Given the description of an element on the screen output the (x, y) to click on. 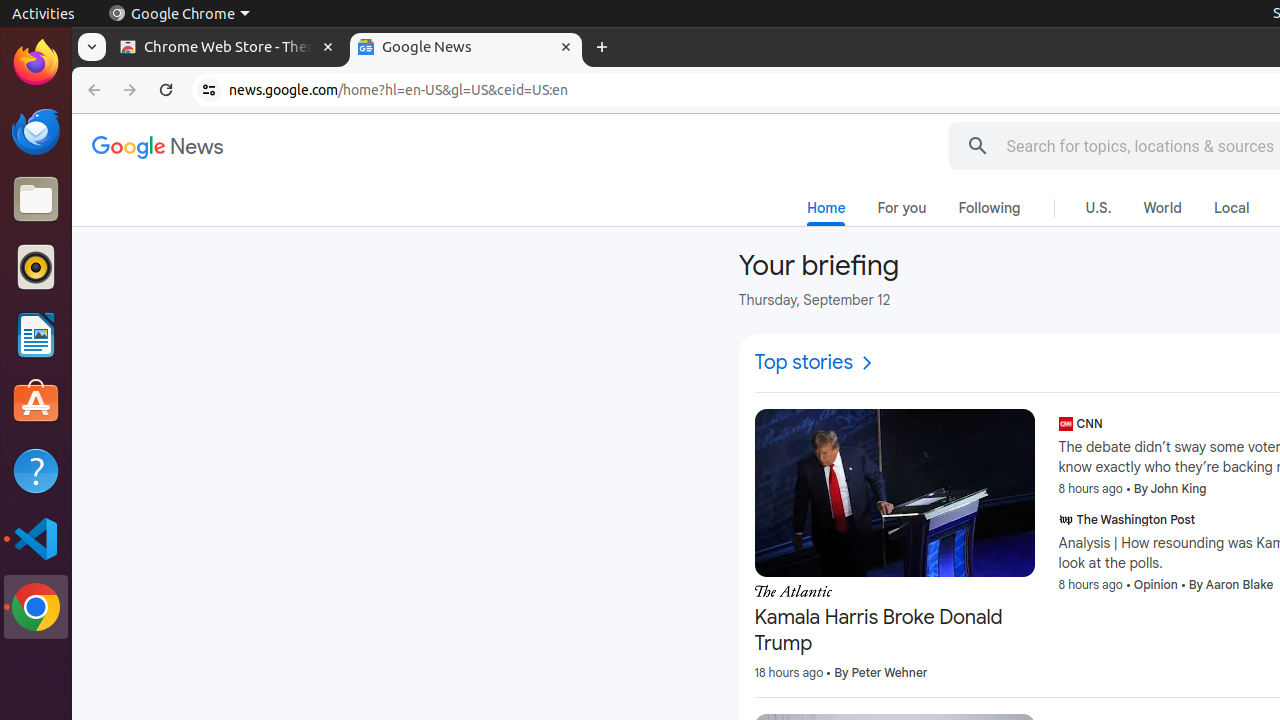
Google Chrome Element type: push-button (36, 607)
Google News - Memory usage - 40.9 MB Element type: page-tab (466, 47)
Firefox Web Browser Element type: push-button (36, 63)
Forward Element type: push-button (130, 90)
More - Kamala Harris Broke Donald Trump Element type: push-button (1028, 594)
